Given the description of an element on the screen output the (x, y) to click on. 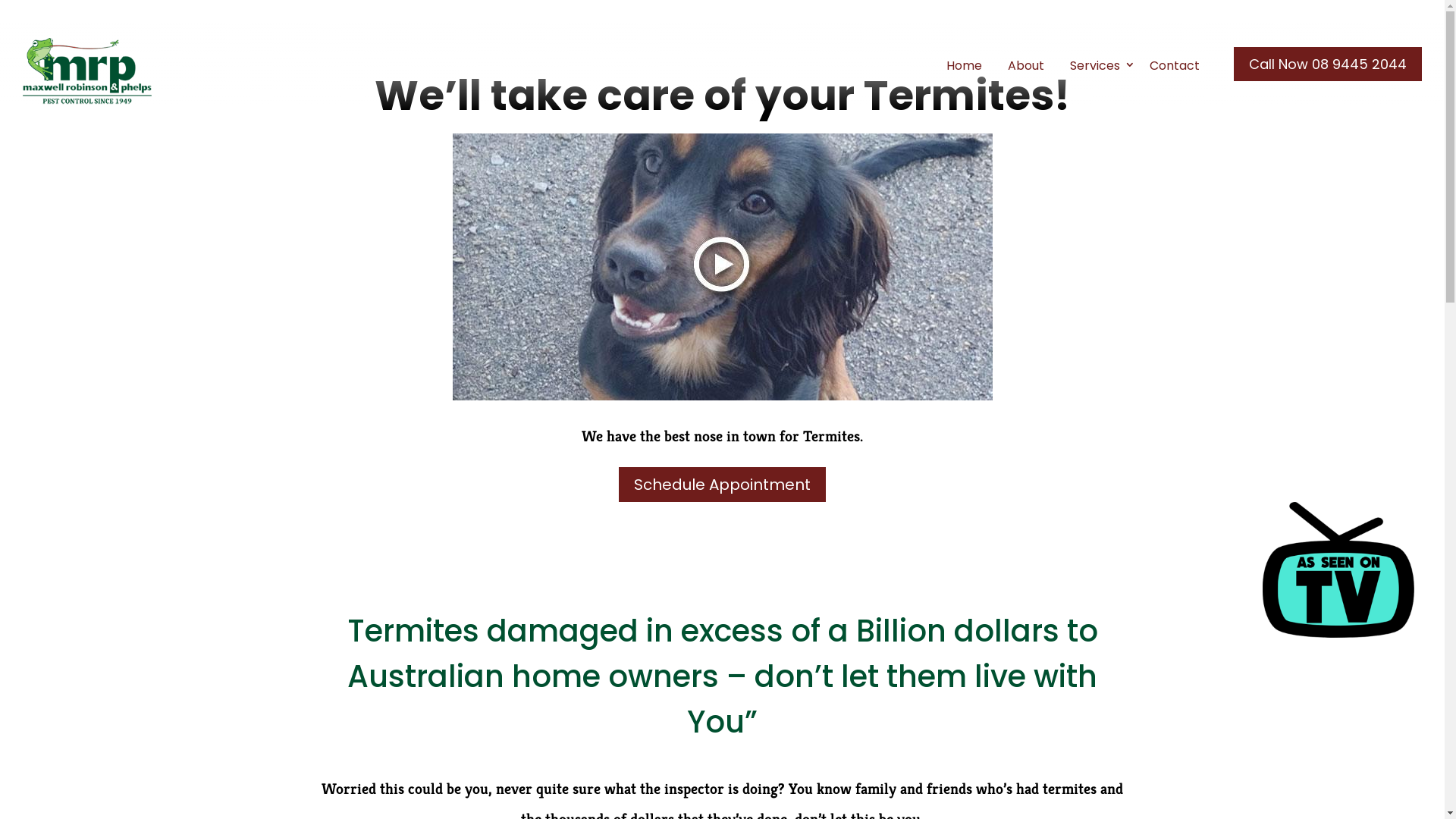
Services Element type: text (1096, 65)
About Element type: text (1025, 65)
Contact Element type: text (1174, 65)
Call Now 08 9445 2044 Element type: text (1327, 64)
Schedule Appointment Element type: text (721, 484)
Home Element type: text (964, 65)
